Given the description of an element on the screen output the (x, y) to click on. 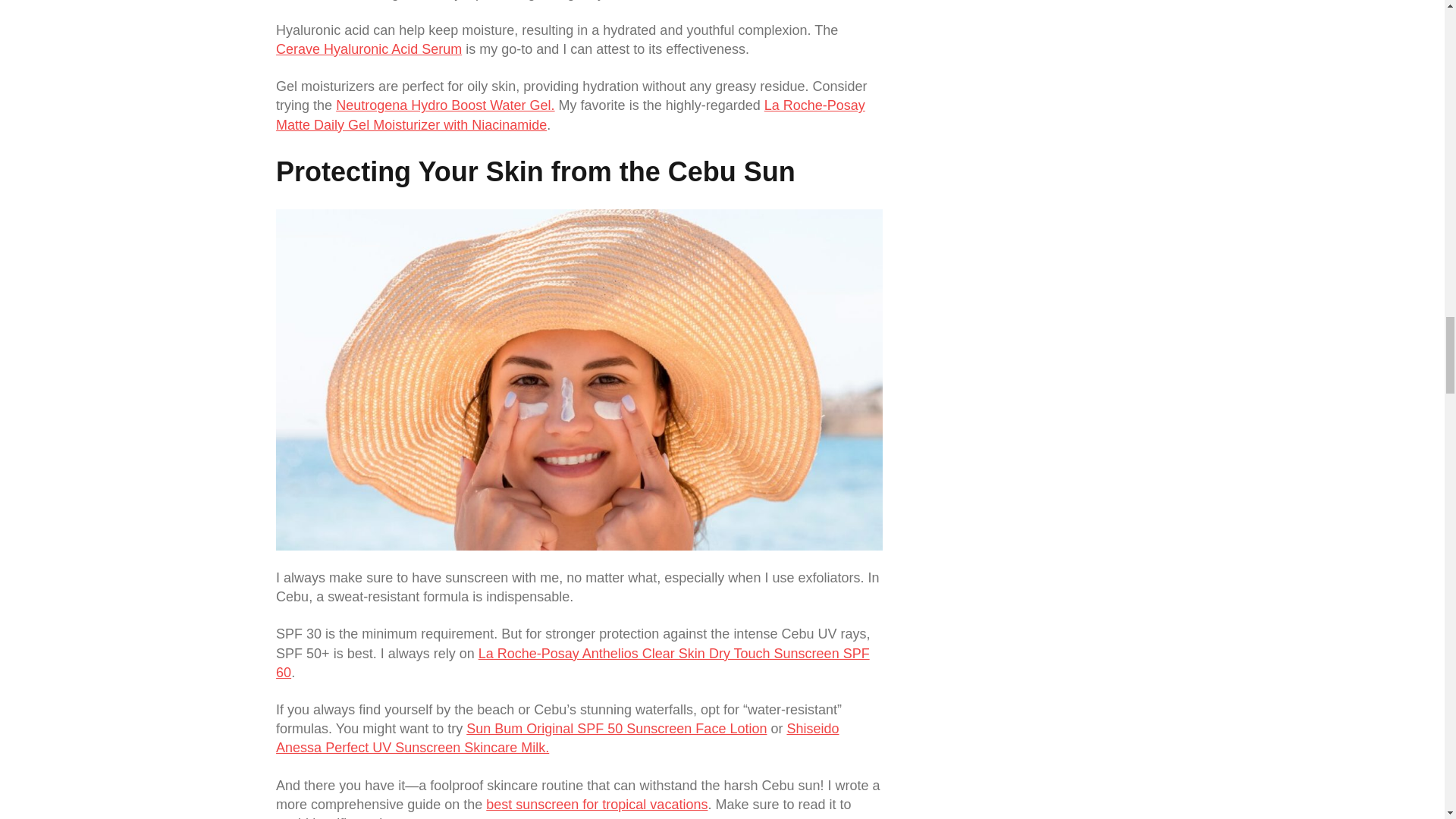
best sunscreen for tropical vacations (596, 804)
Cerave Hyaluronic Acid Serum (368, 48)
Sun Bum Original SPF 50 Sunscreen Face Lotion (616, 728)
La Roche-Posay Matte Daily Gel Moisturizer with Niacinamide (570, 114)
Neutrogena Hydro Boost Water Gel. (445, 105)
Shiseido Anessa Perfect UV Sunscreen Skincare Milk. (557, 738)
